Given the description of an element on the screen output the (x, y) to click on. 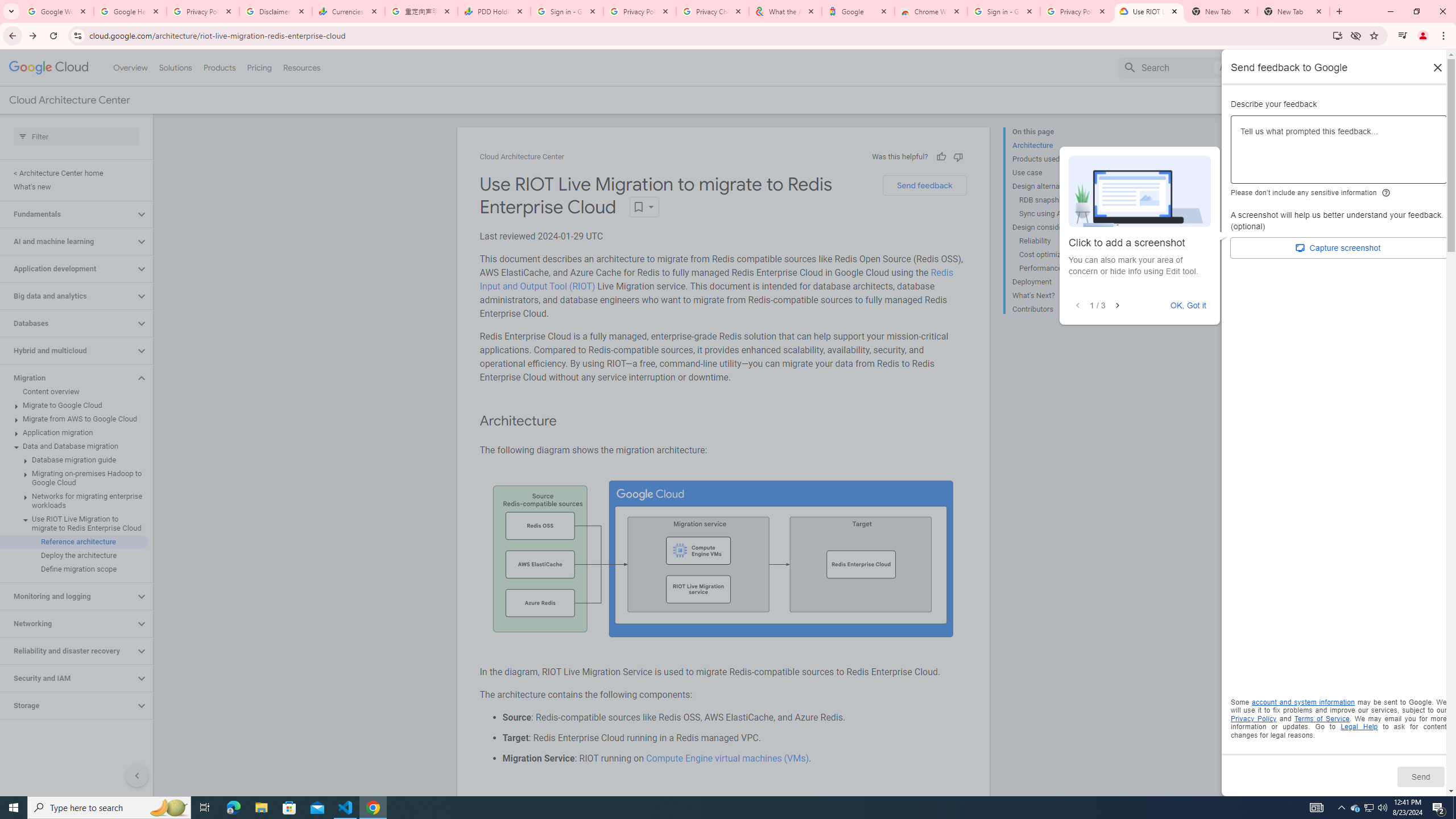
Monitoring and logging (67, 596)
Migrate from AWS to Google Cloud (74, 418)
Application migration (74, 432)
Reference architecture (74, 541)
Contact Us (1324, 100)
Solutions (175, 67)
Architecture (1058, 145)
Previous (1078, 305)
Application development (67, 269)
Deployment (1058, 282)
Use RIOT Live Migration to migrate to Redis Enterprise Cloud (74, 523)
Resources (301, 67)
